Given the description of an element on the screen output the (x, y) to click on. 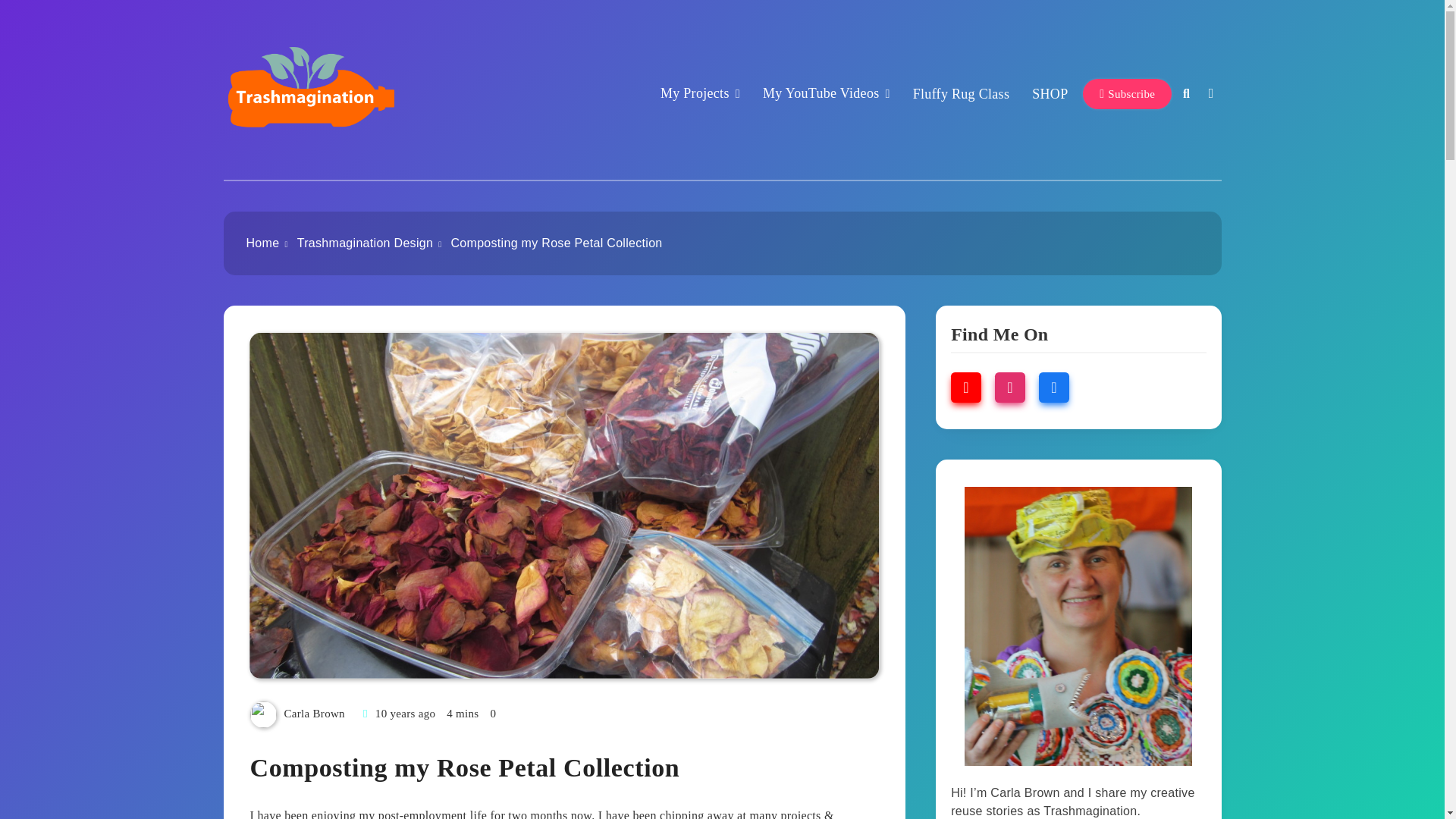
Carla Brown (313, 713)
Trashmagination Design (364, 242)
SHOP (1049, 94)
10 years ago (405, 713)
Fluffy Rug Class (961, 94)
My Projects (700, 93)
Trashmagination (321, 165)
Subscribe (1127, 93)
Home (262, 242)
My YouTube Videos (825, 93)
